Given the description of an element on the screen output the (x, y) to click on. 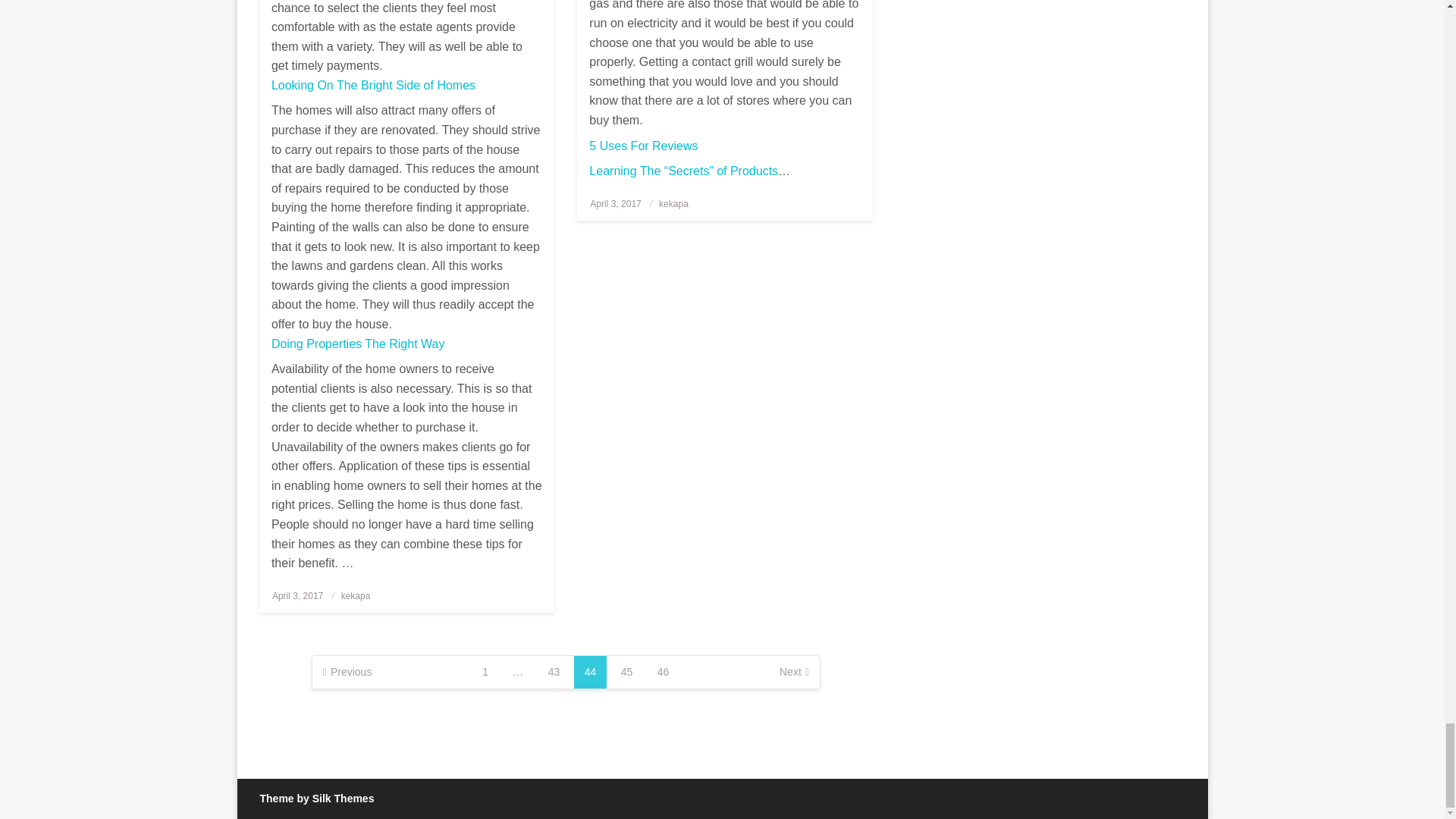
kekapa (355, 595)
kekapa (673, 204)
